Given the description of an element on the screen output the (x, y) to click on. 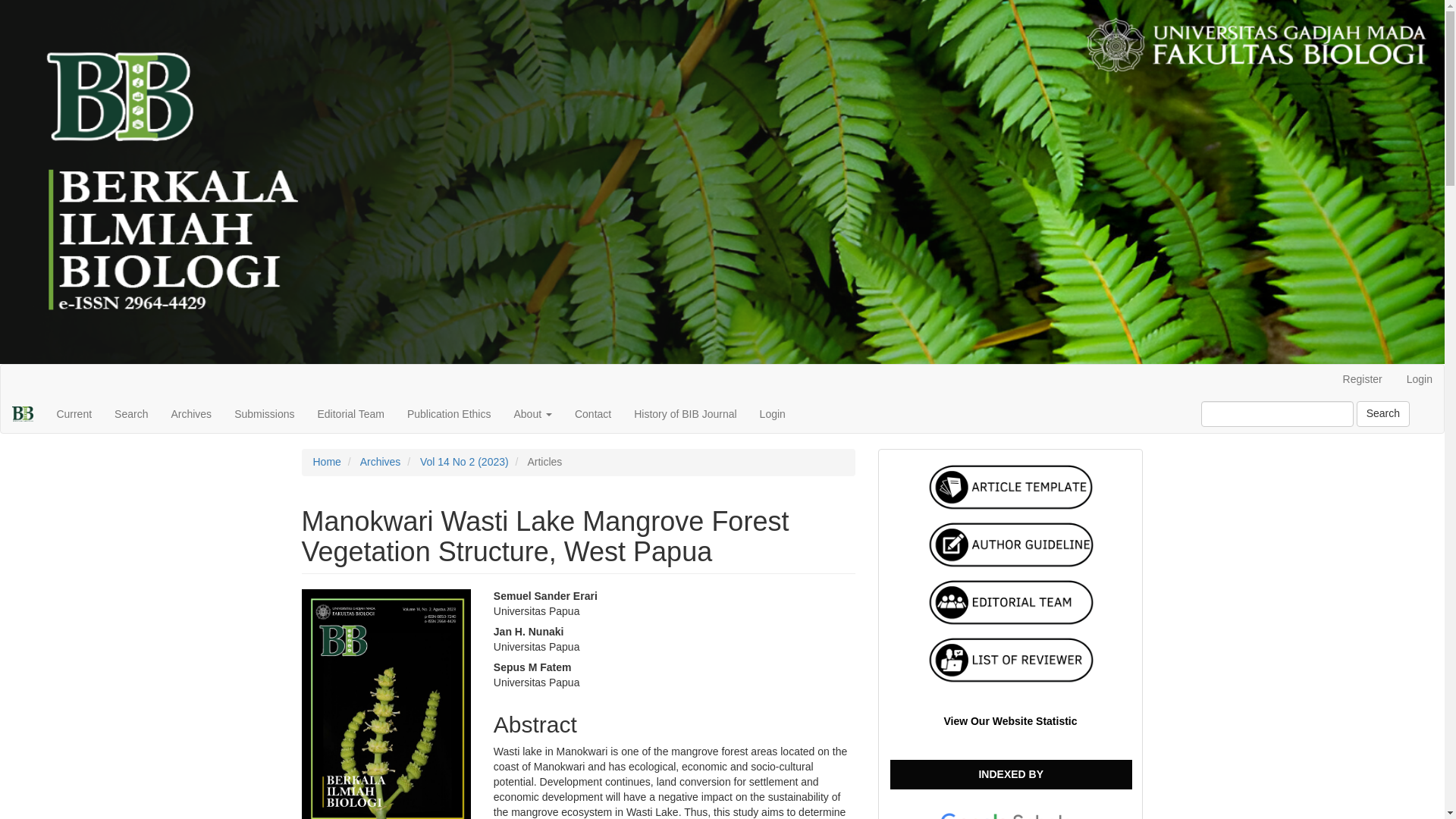
Publication Ethics (449, 413)
Login (772, 413)
Login (1419, 379)
Search (130, 413)
Editorial Team (350, 413)
History of BIB Journal (685, 413)
Home (326, 461)
Archives (380, 461)
Current (74, 413)
Submissions (263, 413)
Archives (190, 413)
Register (1362, 379)
Contact (593, 413)
Search (1382, 413)
